Given the description of an element on the screen output the (x, y) to click on. 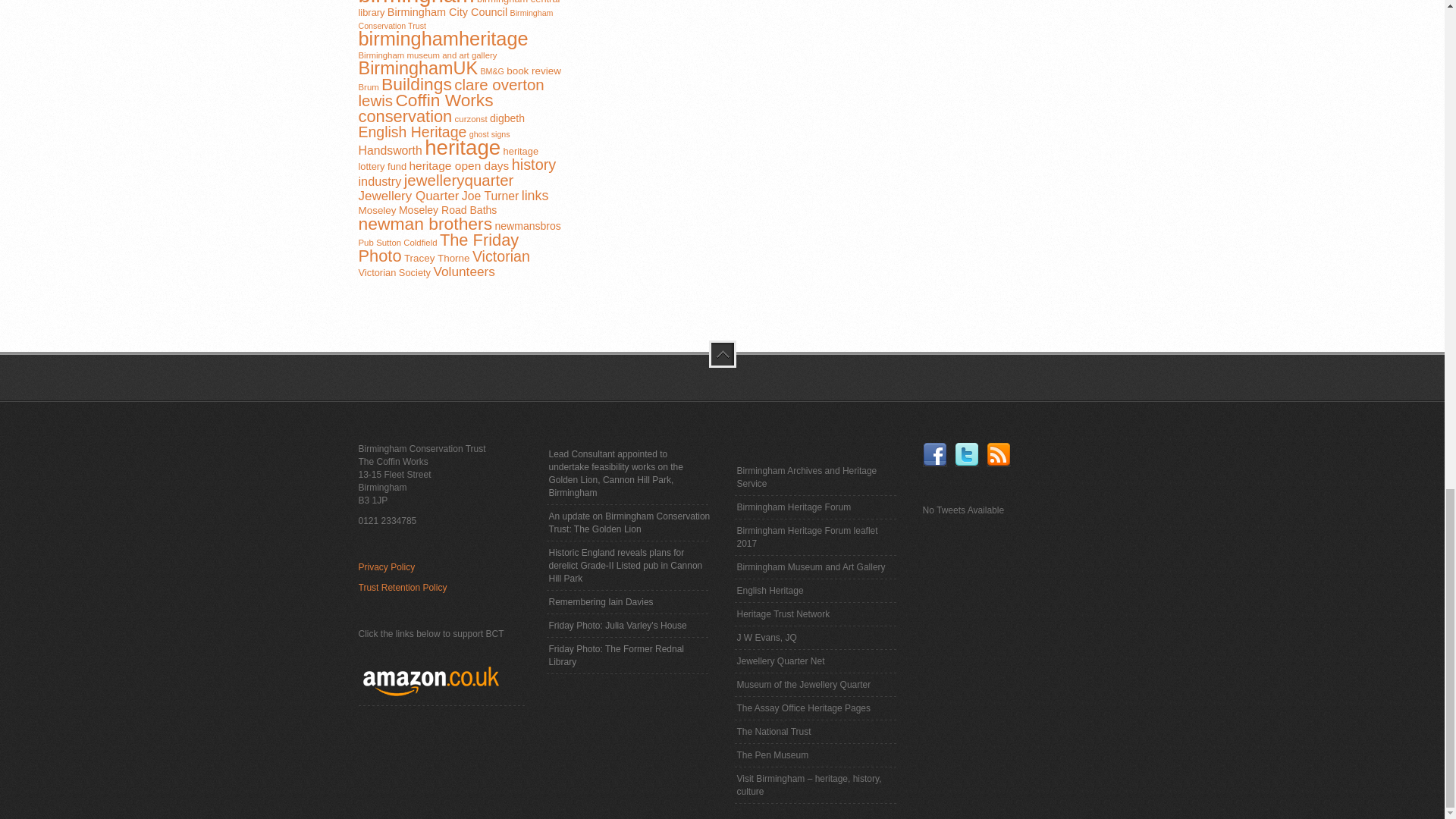
An update on Birmingham Conservation Trust: The Golden Lion (629, 523)
Birmingham Heritage Forum leaflet 2017 (815, 537)
Friday Photo: The Former Rednal Library (629, 655)
Friday Photo: Julia Varley's House (617, 625)
Remembering Iain Davies (600, 602)
Go to Top! (721, 353)
